Given the description of an element on the screen output the (x, y) to click on. 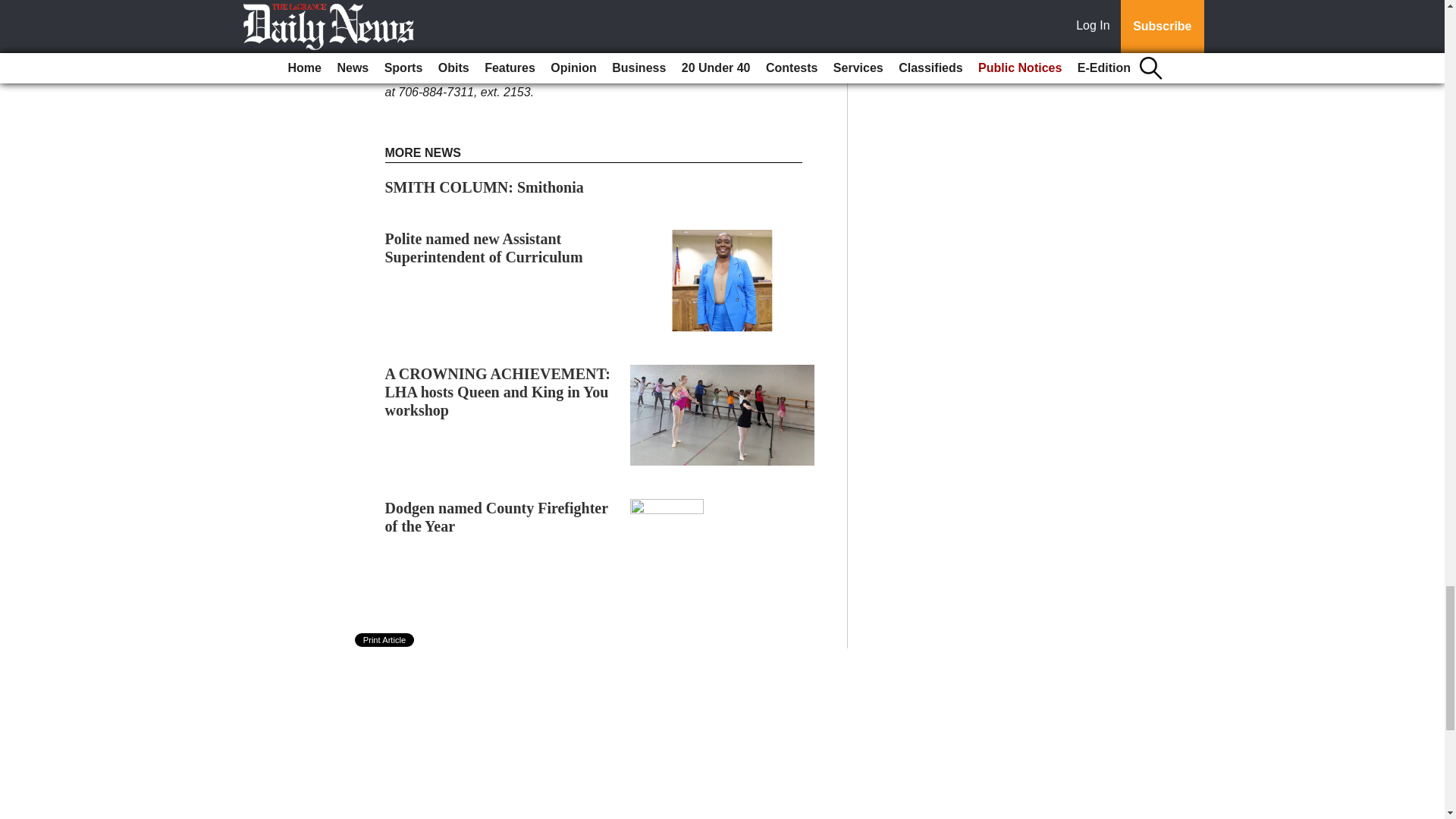
Polite named new Assistant Superintendent of Curriculum (484, 247)
Polite named new Assistant Superintendent of Curriculum (484, 247)
SMITH COLUMN: Smithonia (484, 187)
Dodgen named County Firefighter of the Year (496, 516)
SMITH COLUMN: Smithonia (484, 187)
Print Article (384, 640)
Dodgen named County Firefighter of the Year (496, 516)
